Given the description of an element on the screen output the (x, y) to click on. 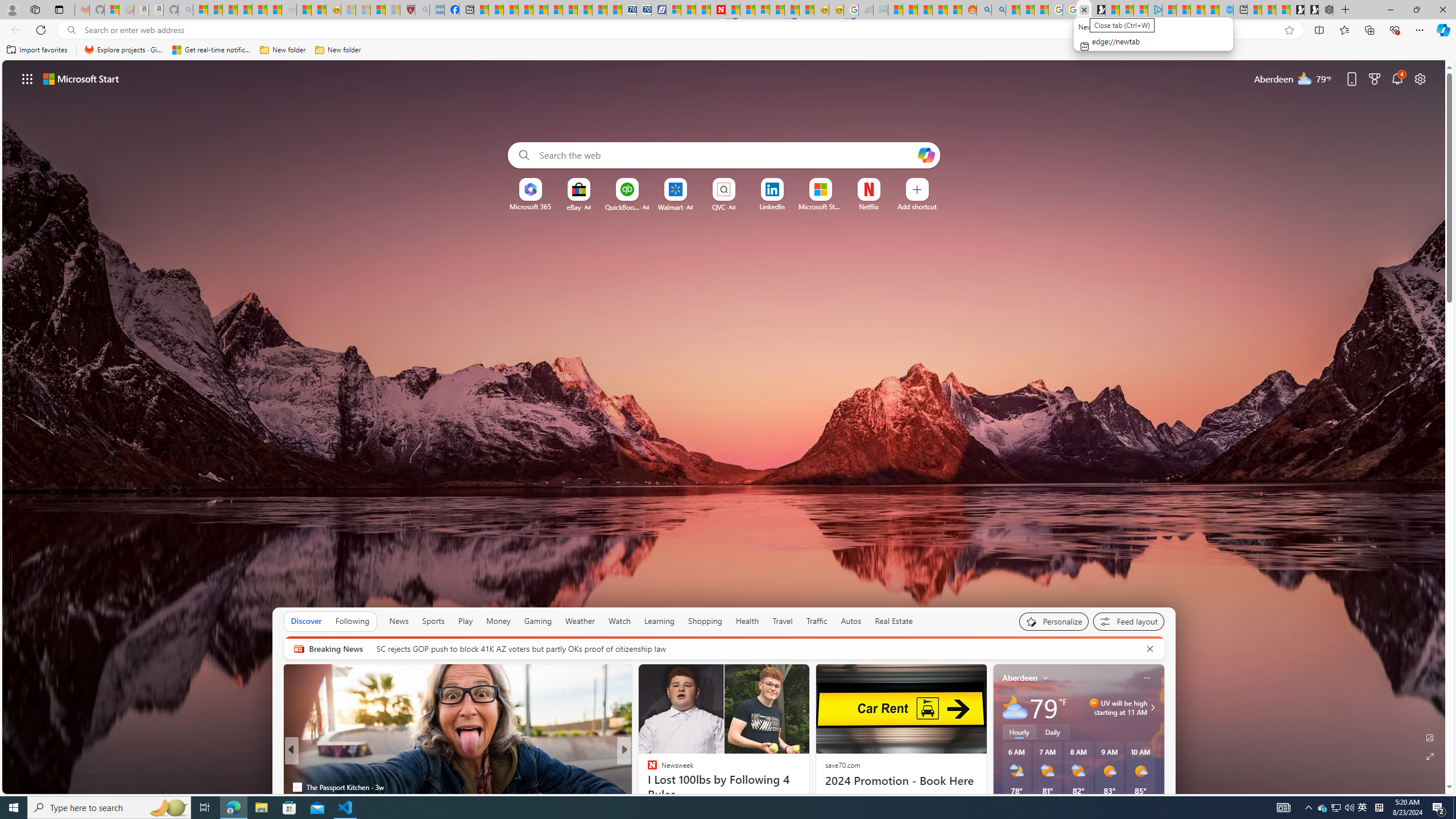
Traffic (816, 621)
Search icon (70, 29)
Personalize your feed" (1054, 621)
Money (498, 621)
Discover (306, 621)
Enter your search term (726, 155)
2024 Promotion - Book Here (900, 780)
Weather (579, 621)
